Given the description of an element on the screen output the (x, y) to click on. 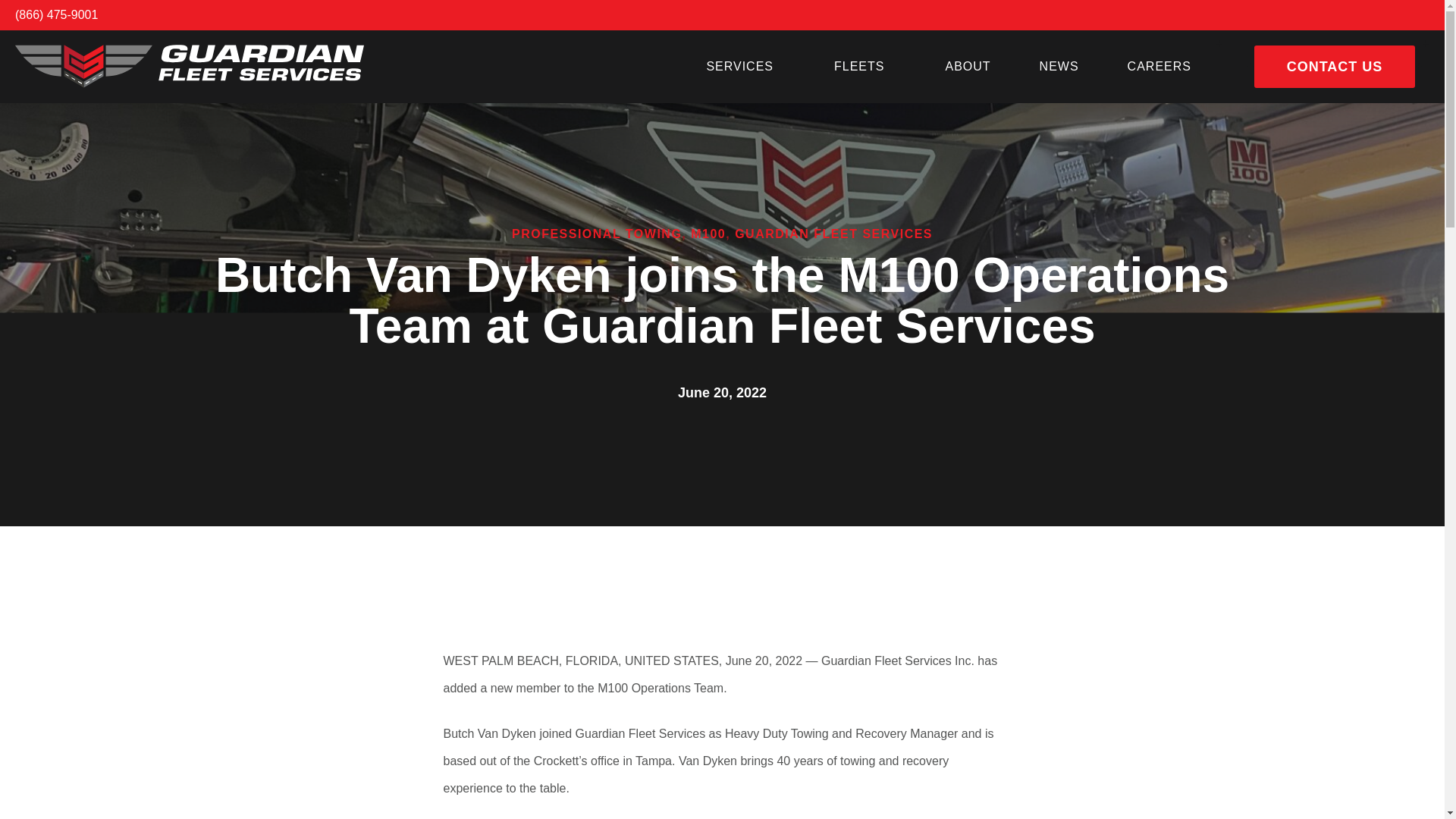
GUARDIAN FLEET SERVICES (834, 233)
CAREERS (1159, 66)
FLEETS (864, 66)
M100 (707, 233)
SERVICES (745, 66)
PROFESSIONAL TOWING (596, 233)
Home (190, 66)
ABOUT (967, 66)
NEWS (1058, 66)
